Given the description of an element on the screen output the (x, y) to click on. 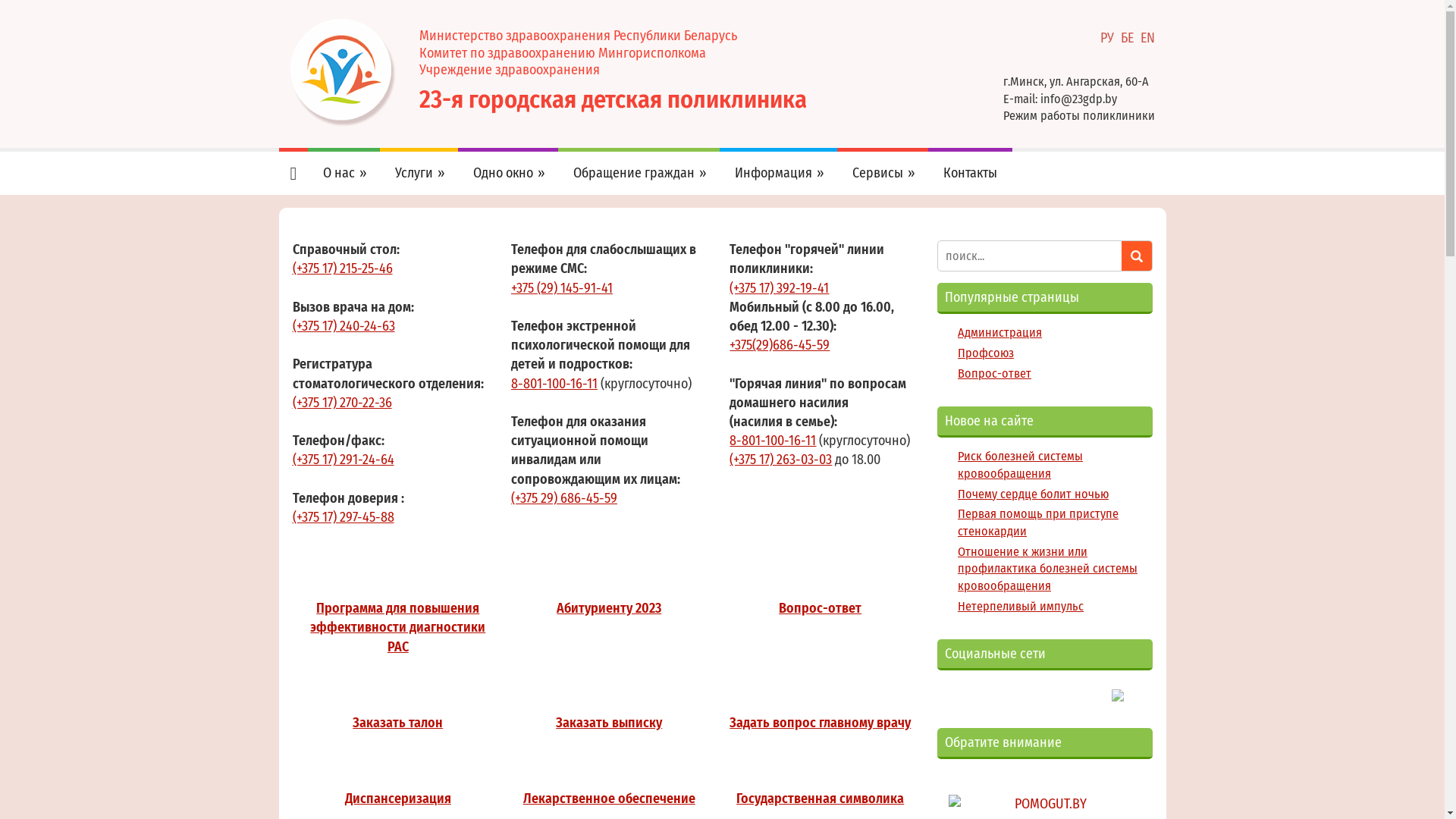
8-801-100-16-11 Element type: text (772, 440)
(+375 17) 270-22-36 Element type: text (342, 402)
POMOGUT.BY Element type: hover (1044, 803)
EN Element type: text (1147, 37)
+375 (29) 145-91-41 Element type: text (561, 288)
(+375 17) 291-24-64 Element type: text (343, 459)
(+375 17) 240-24-63 Element type: text (343, 325)
info@23gdp.by Element type: text (1078, 98)
RSS feed Element type: hover (1094, 689)
(+375 17) 215-25-46 Element type: text (342, 268)
+375(29)686-45-59 Element type: text (779, 344)
(+375 17) 392-19-41 Element type: text (778, 288)
8-801-100-16-11 Element type: text (554, 383)
(+375 17) 297-45-88 Element type: text (343, 517)
(+375 17) 263-03-03 Element type: text (780, 459)
(+375 29) 686-45-59 Element type: text (564, 498)
